Given the description of an element on the screen output the (x, y) to click on. 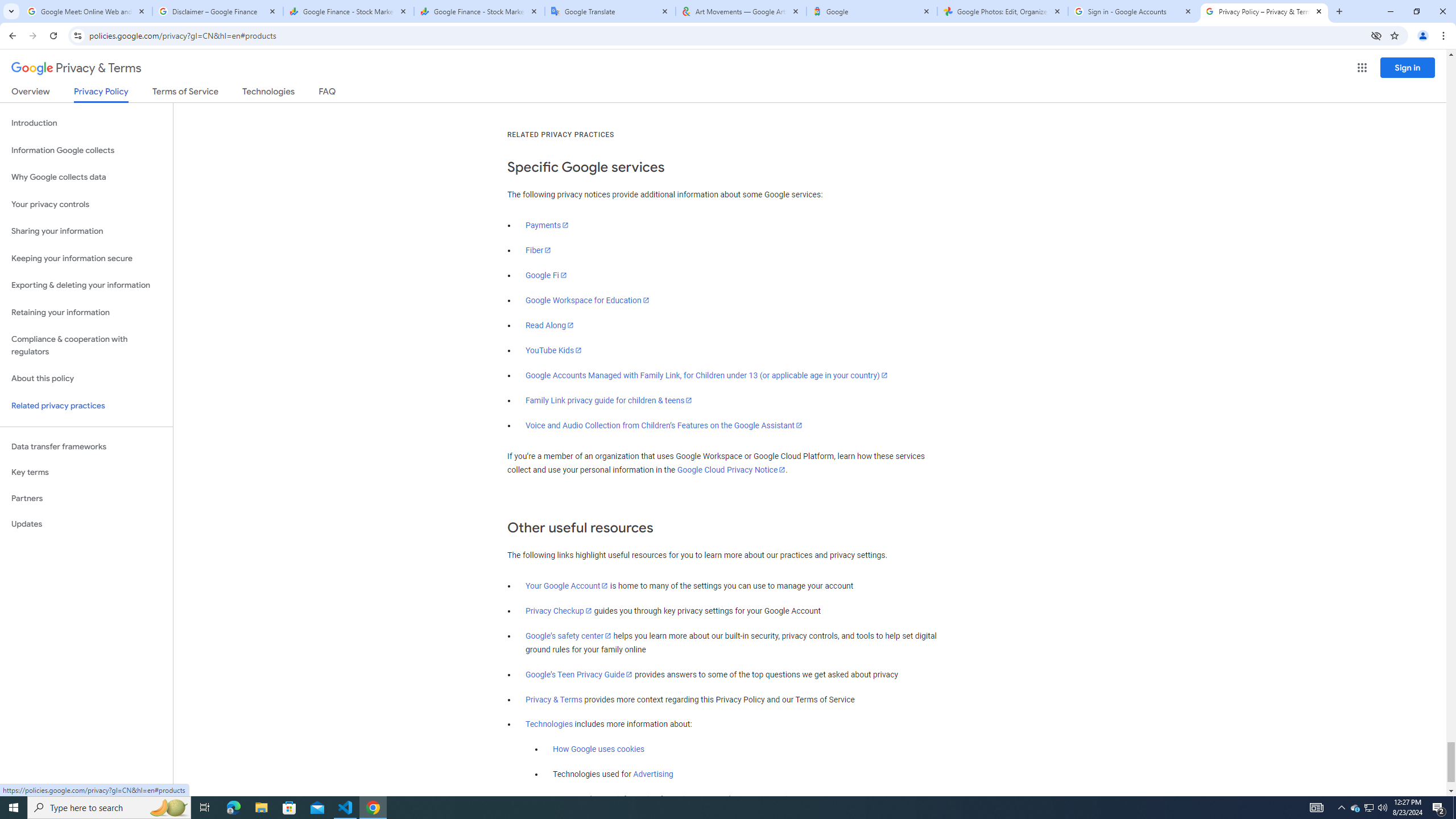
Your Google Account (566, 585)
Privacy Checkup (558, 610)
YouTube Kids (553, 350)
Google (871, 11)
Payments (547, 225)
